Given the description of an element on the screen output the (x, y) to click on. 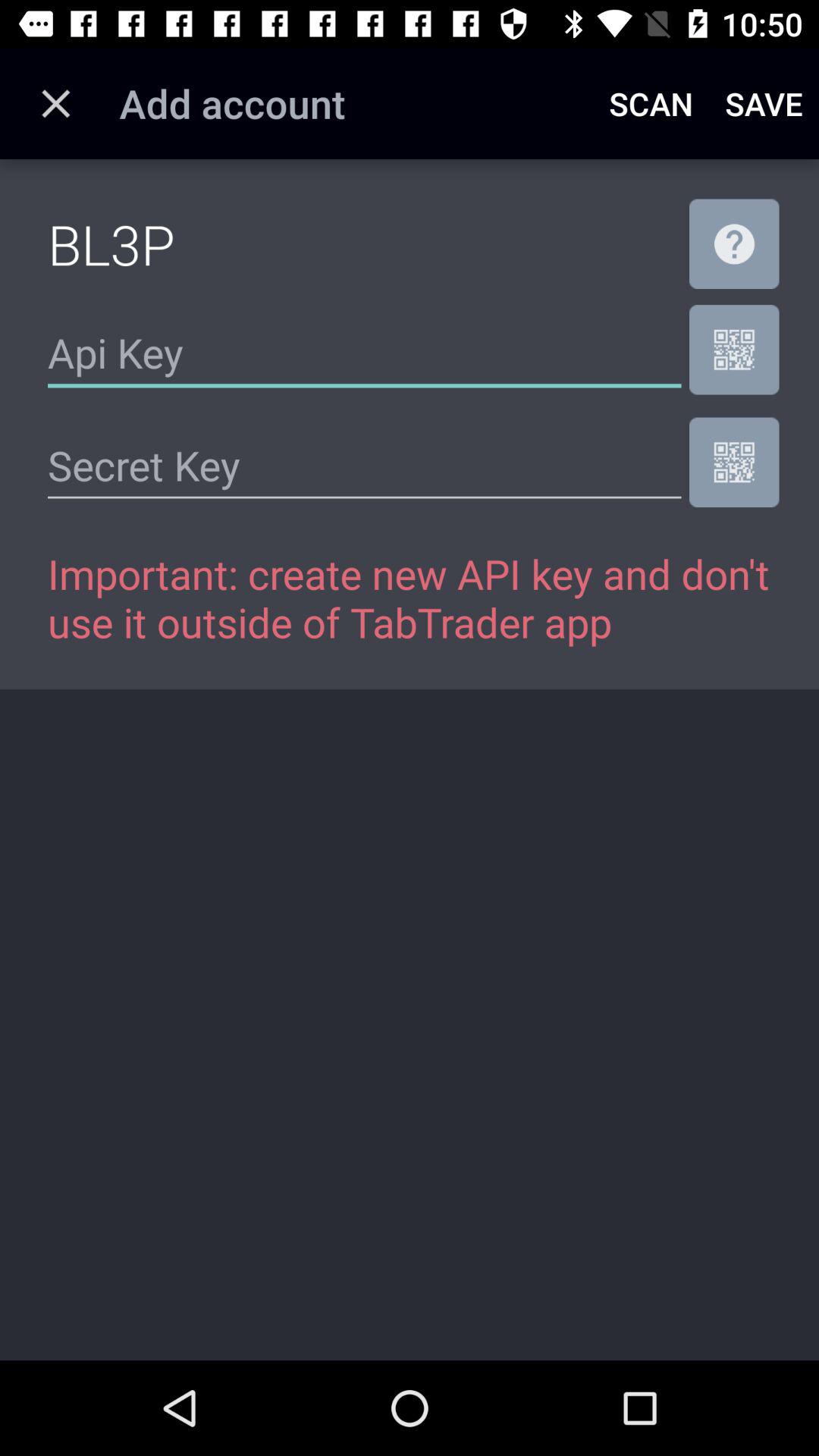
open icon next to bl3p item (734, 243)
